Given the description of an element on the screen output the (x, y) to click on. 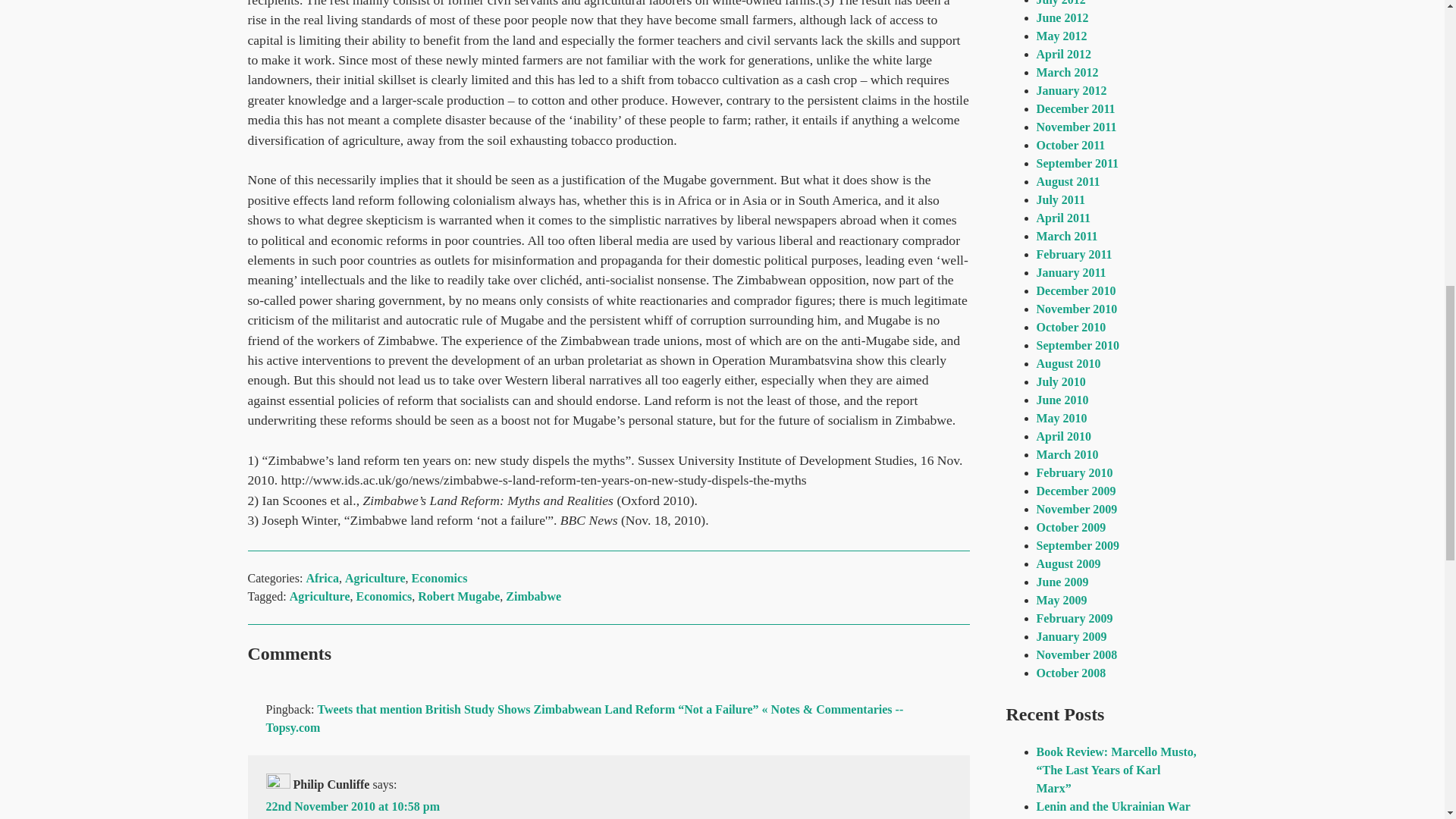
Robert Mugabe (458, 595)
Economics (439, 577)
Zimbabwe (532, 595)
Economics (384, 595)
Africa (322, 577)
22nd November 2010 at 10:58 pm (351, 806)
Agriculture (319, 595)
Agriculture (375, 577)
